Given the description of an element on the screen output the (x, y) to click on. 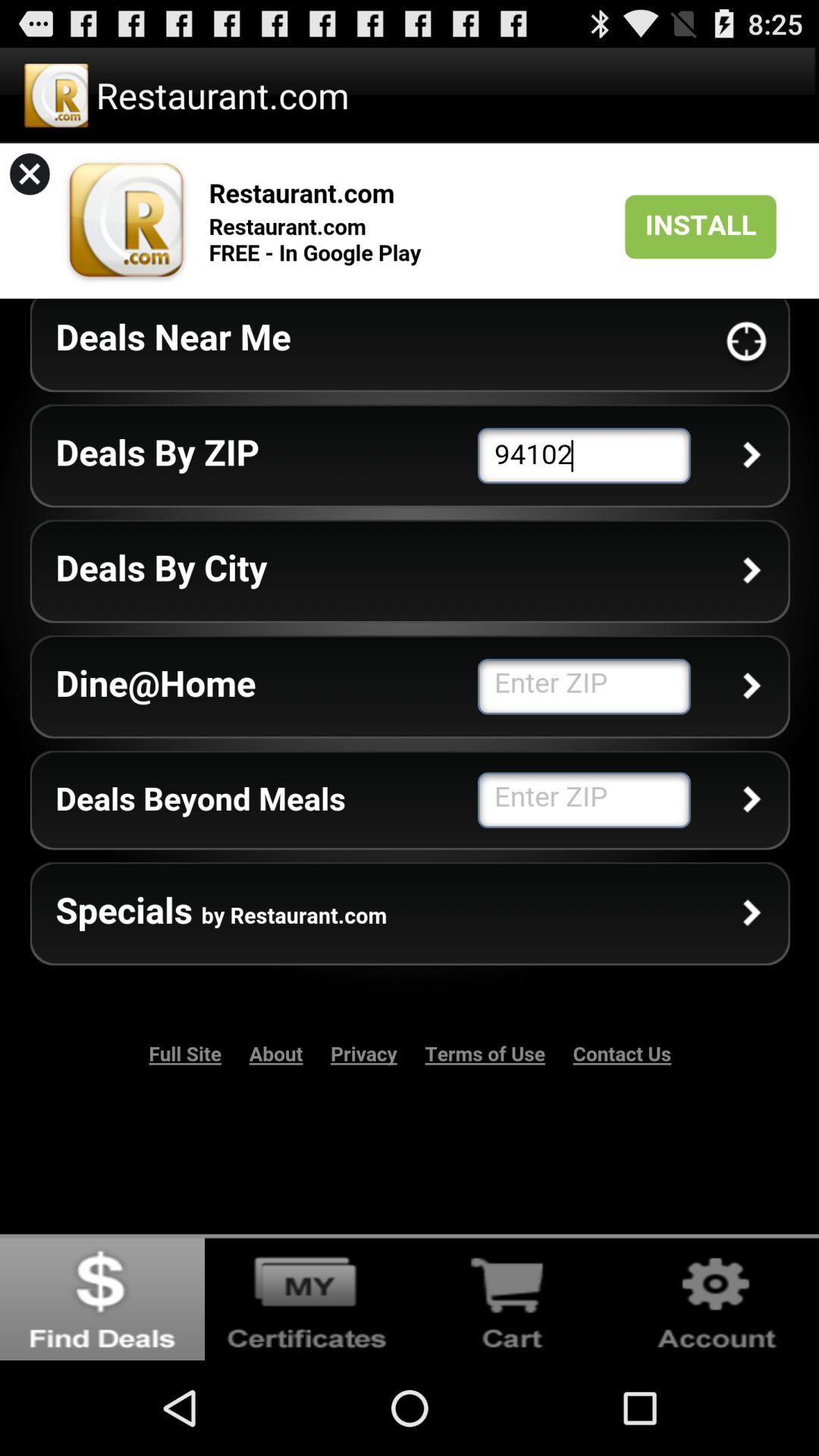
go to settings (716, 1297)
